Given the description of an element on the screen output the (x, y) to click on. 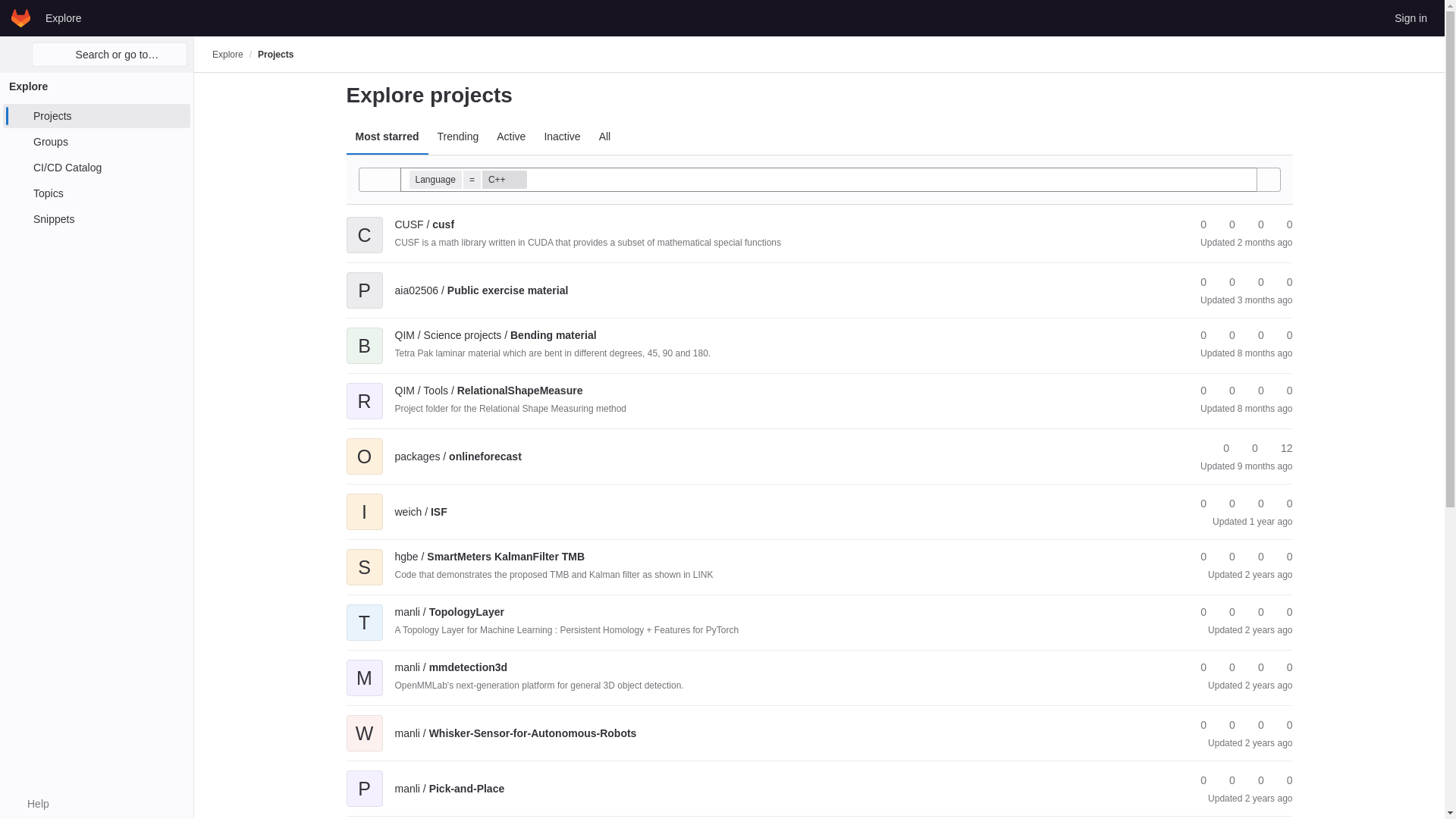
Homepage (20, 17)
Help (30, 803)
Public exercise material (480, 290)
Most starred (387, 135)
Active (510, 135)
0 (1224, 224)
Stars (1196, 224)
Forks (1224, 282)
Forks (1224, 224)
C (363, 224)
cusf (424, 224)
Toggle history (379, 179)
Issues (1282, 224)
Explore (227, 54)
Trending (457, 135)
